Given the description of an element on the screen output the (x, y) to click on. 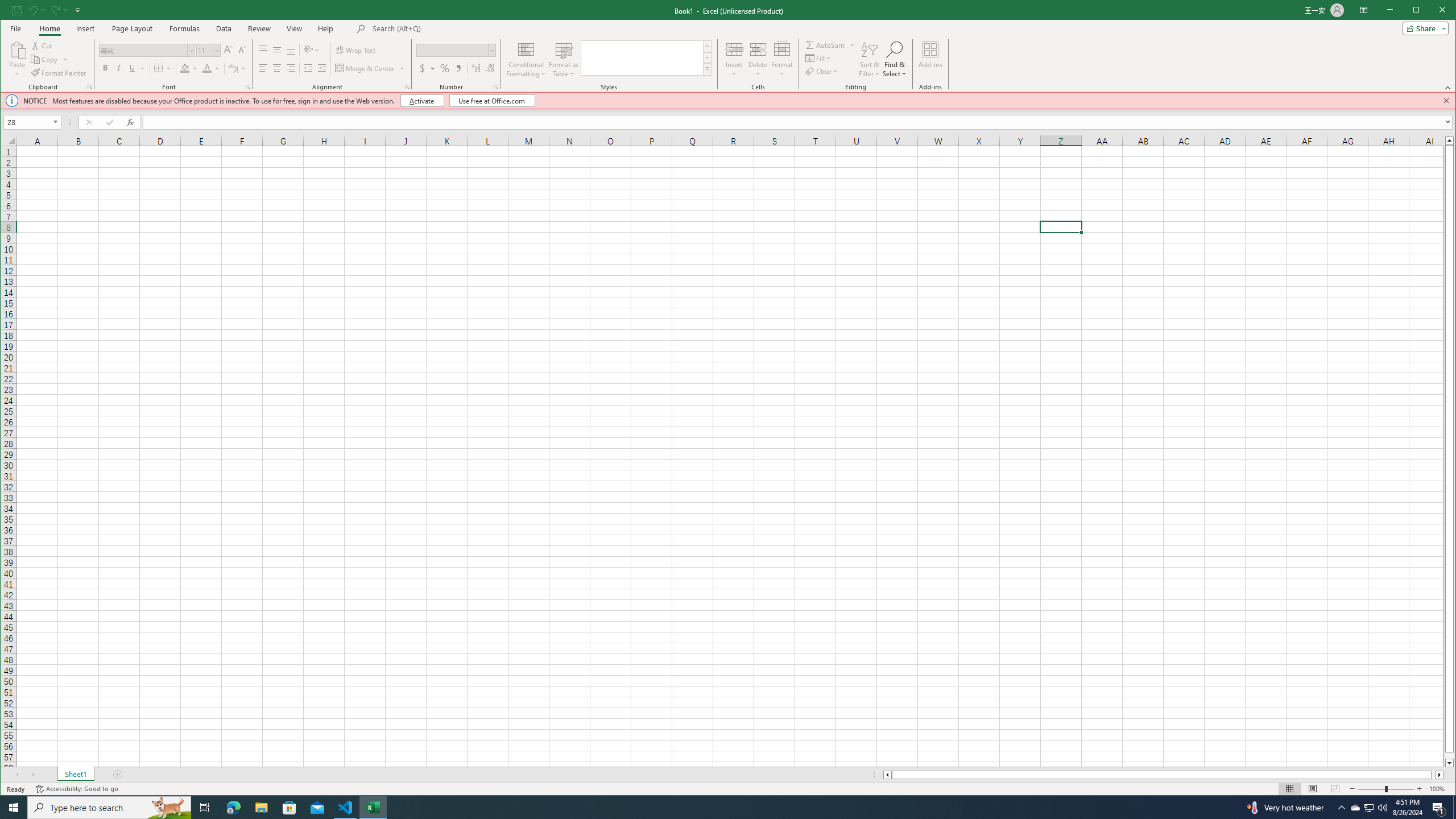
Format (782, 59)
Decrease Indent (307, 68)
Delete Cells... (757, 48)
Fill Color (189, 68)
AutoSum (830, 44)
Bottom Border (158, 68)
Accounting Number Format (426, 68)
